Given the description of an element on the screen output the (x, y) to click on. 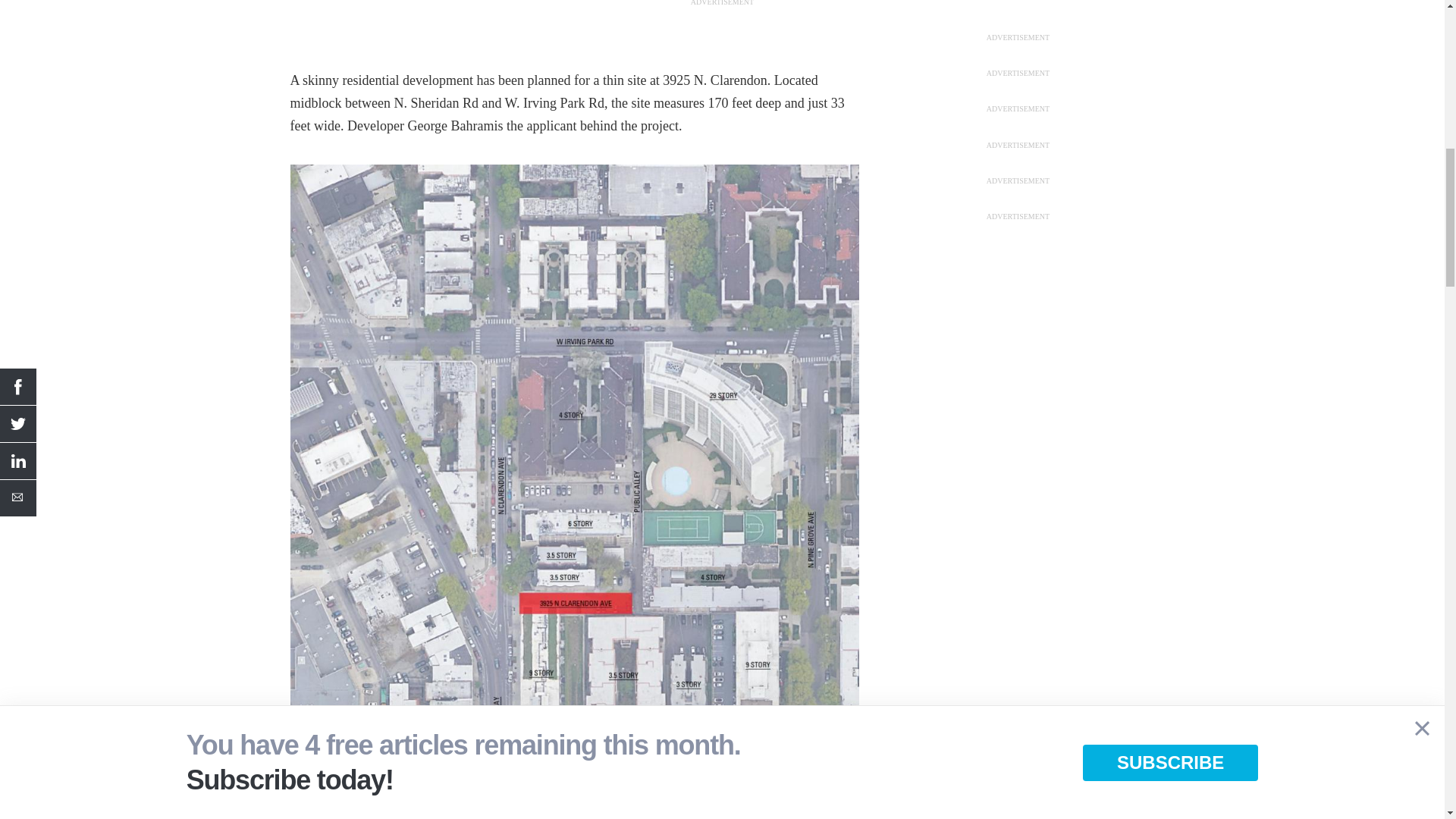
Jonathan Splitt Architects (574, 560)
